Given the description of an element on the screen output the (x, y) to click on. 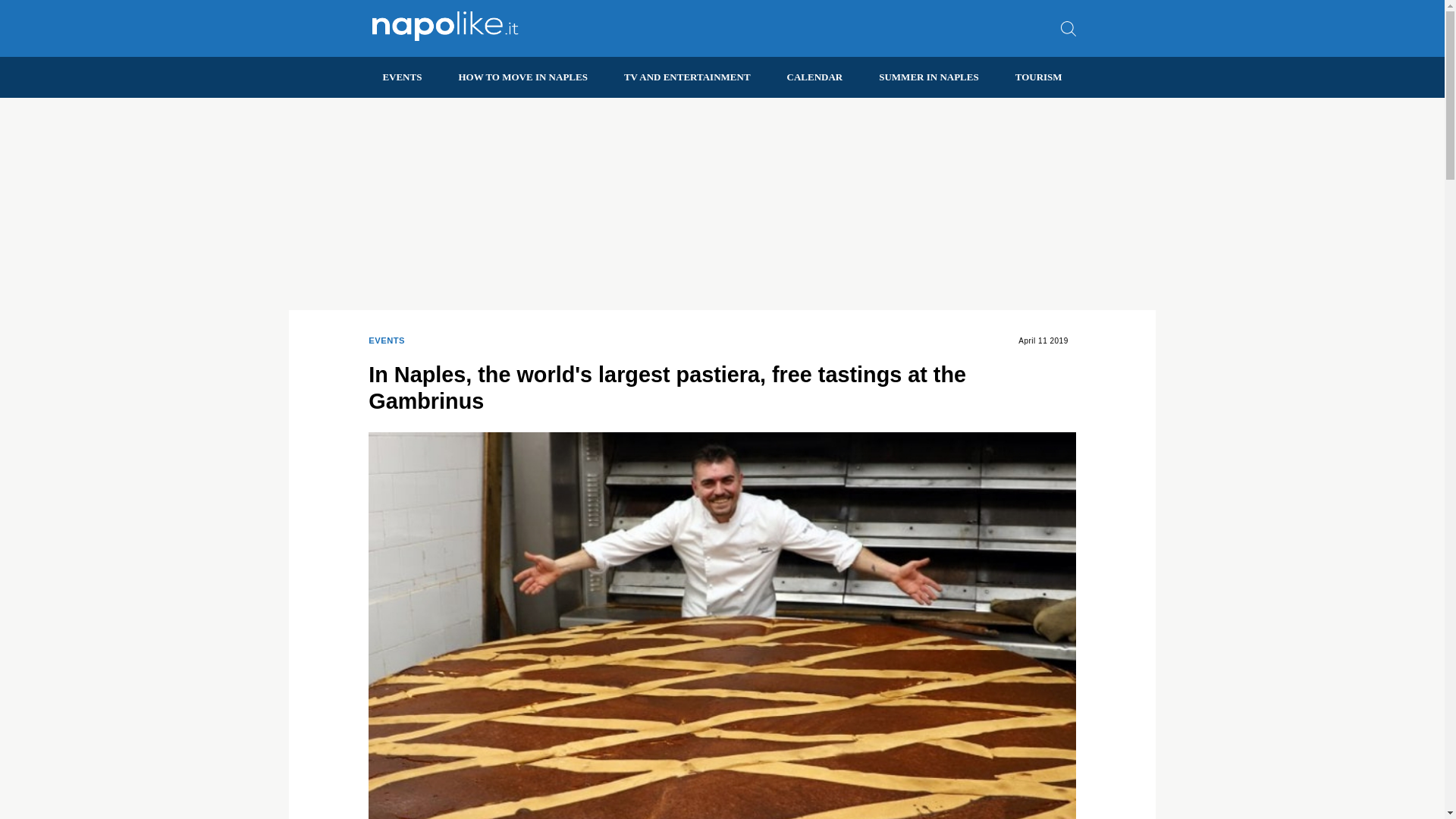
SUMMER IN NAPLES (927, 76)
TV AND ENTERTAINMENT (686, 76)
EVENTS (386, 340)
TOURISM (1038, 76)
EVENTS (401, 76)
HOW TO MOVE IN NAPLES (522, 76)
CALENDAR (814, 76)
